Given the description of an element on the screen output the (x, y) to click on. 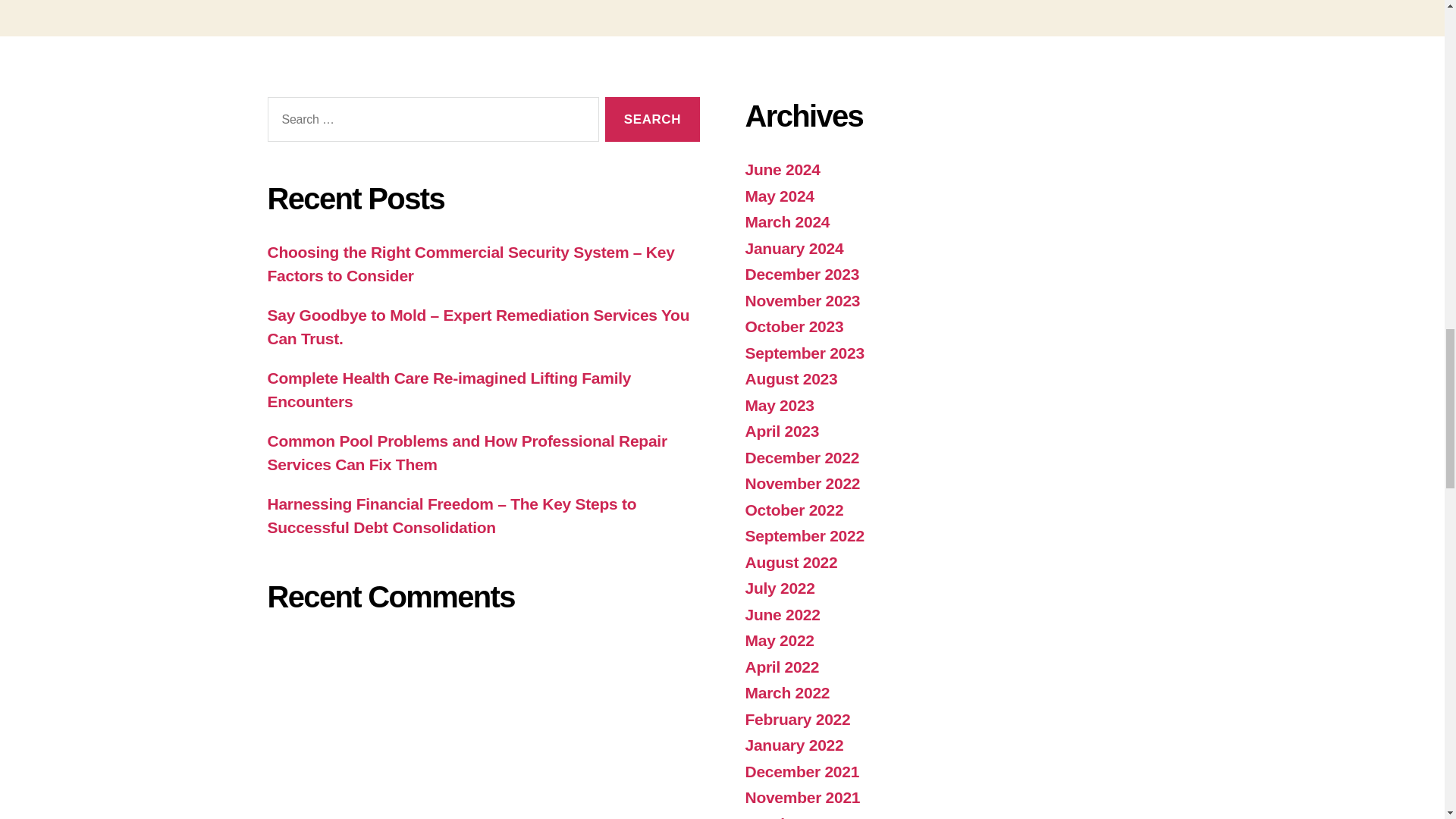
Search (651, 119)
January 2024 (793, 248)
May 2022 (778, 640)
August 2022 (790, 561)
April 2023 (781, 430)
September 2023 (803, 352)
June 2024 (781, 169)
Search (651, 119)
September 2022 (803, 535)
